Given the description of an element on the screen output the (x, y) to click on. 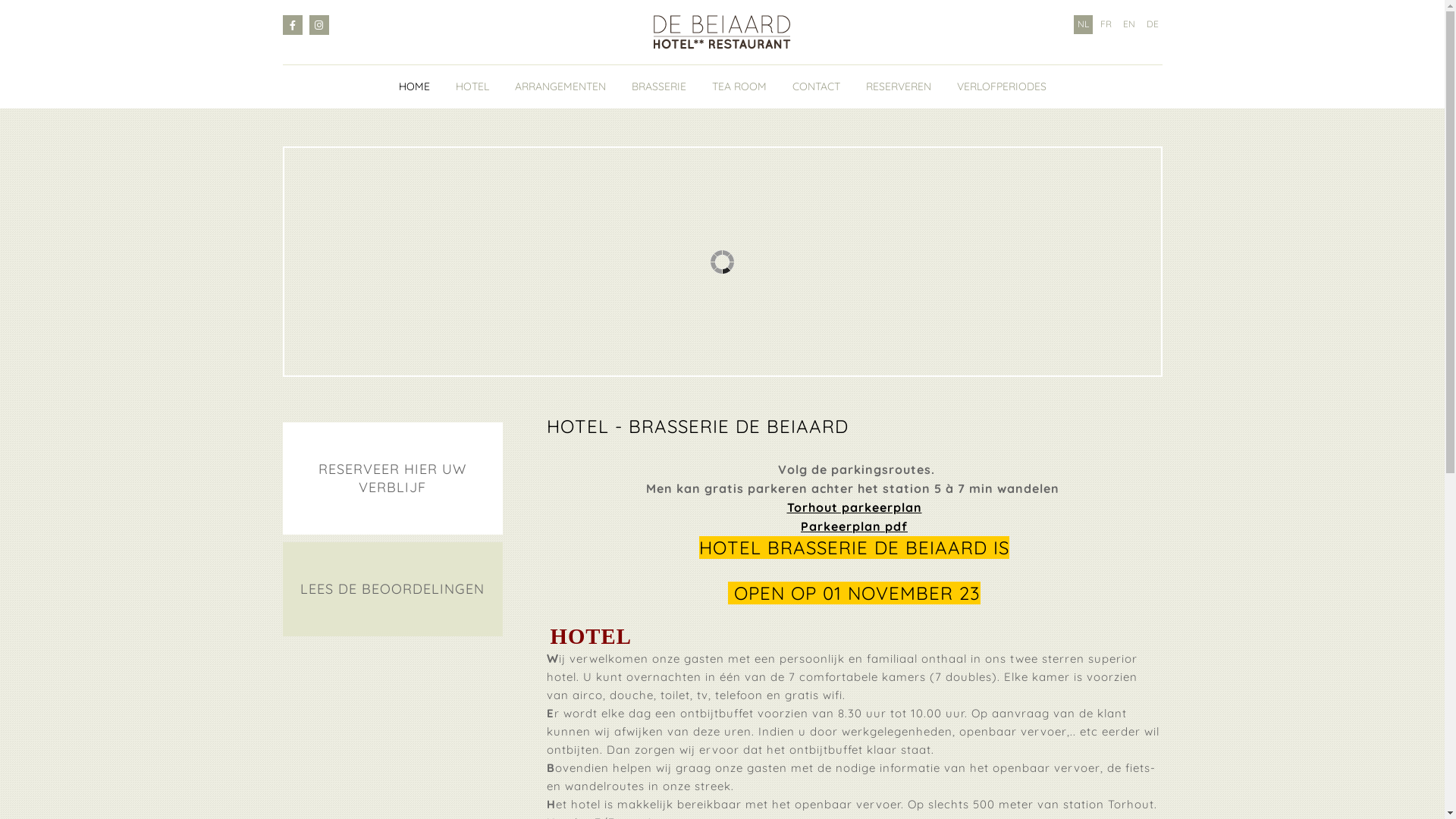
RESERVEREN Element type: text (898, 86)
BRASSERIE Element type: text (657, 86)
TEA ROOM Element type: text (738, 86)
FR Element type: text (1105, 24)
NL Element type: text (1082, 24)
RESERVEER HIER UW VERBLIJF Element type: text (392, 478)
HOME Element type: text (413, 86)
LEES DE BEOORDELINGEN Element type: text (392, 589)
Torhout parkeerplan Element type: text (854, 507)
De Beiaard Element type: hover (721, 32)
CONTACT Element type: text (815, 86)
Parkeerplan pdf Element type: text (853, 526)
DE Element type: text (1151, 24)
ARRANGEMENTEN Element type: text (559, 86)
HOTEL Element type: text (471, 86)
EN Element type: text (1129, 24)
VERLOFPERIODES Element type: text (1001, 86)
